Given the description of an element on the screen output the (x, y) to click on. 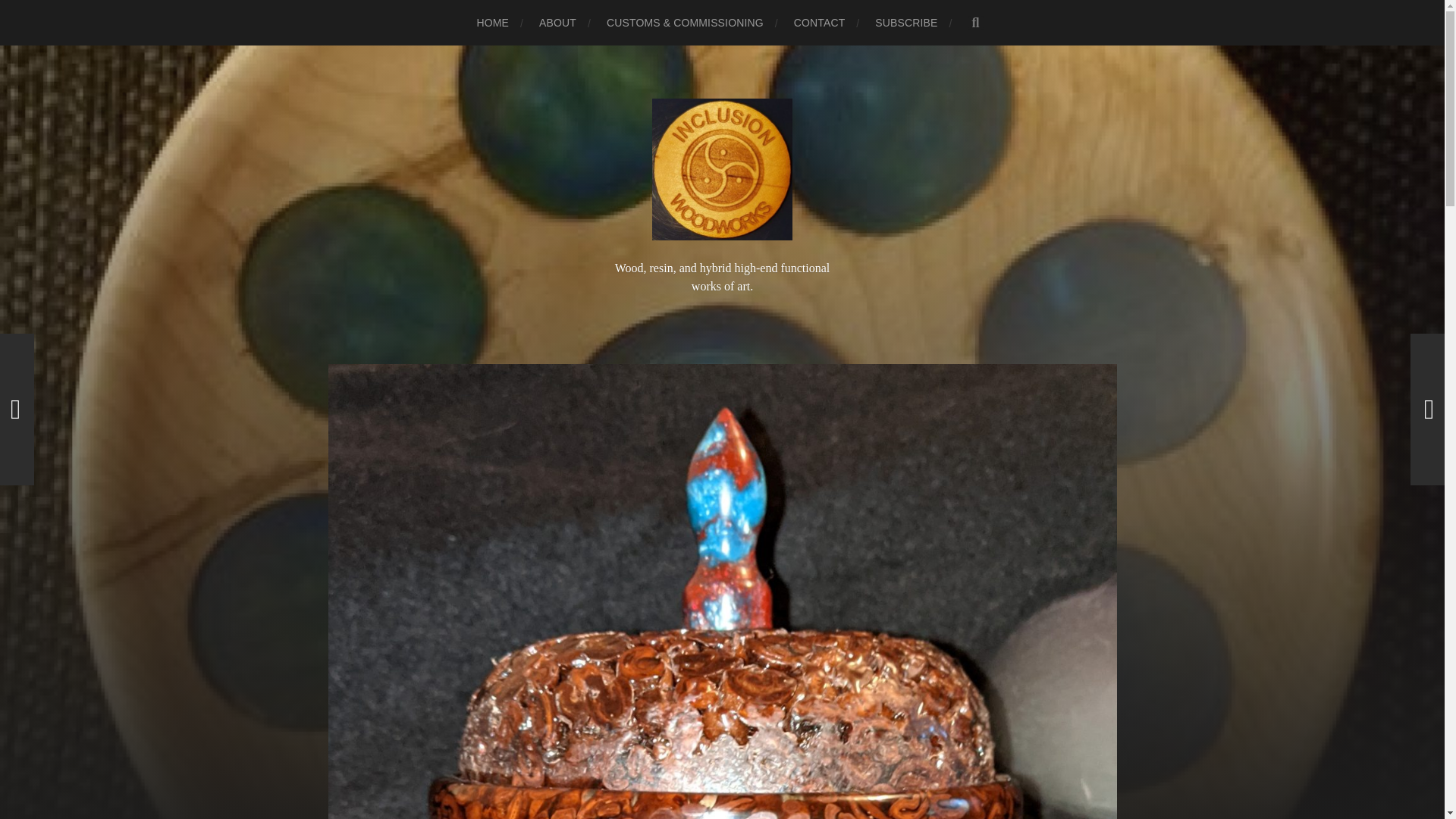
Previous (16, 409)
HOME (492, 22)
CONTACT (819, 22)
ABOUT (557, 22)
SUBSCRIBE (906, 22)
